Given the description of an element on the screen output the (x, y) to click on. 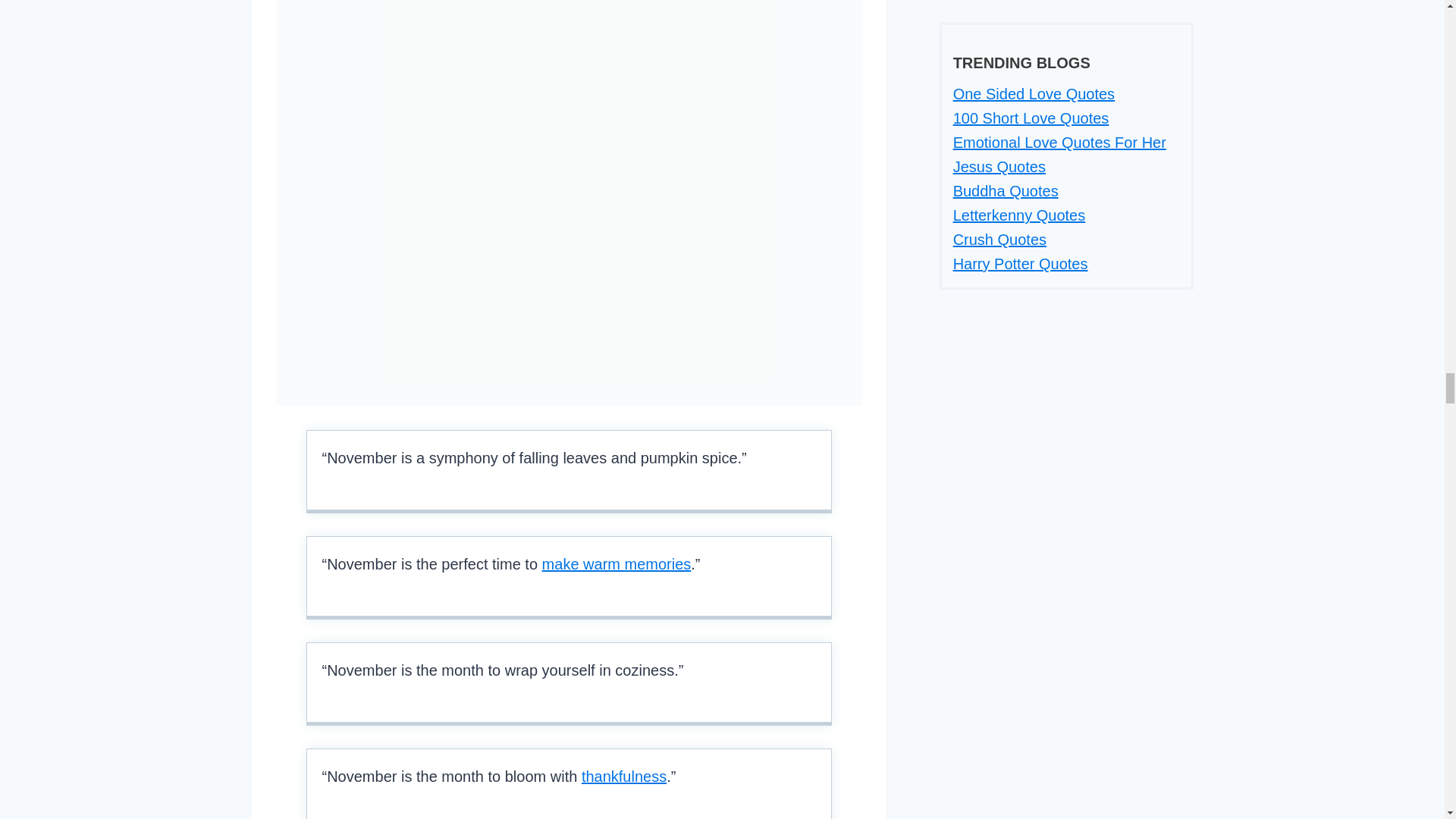
make warm memories (616, 564)
thankfulness (623, 776)
